Given the description of an element on the screen output the (x, y) to click on. 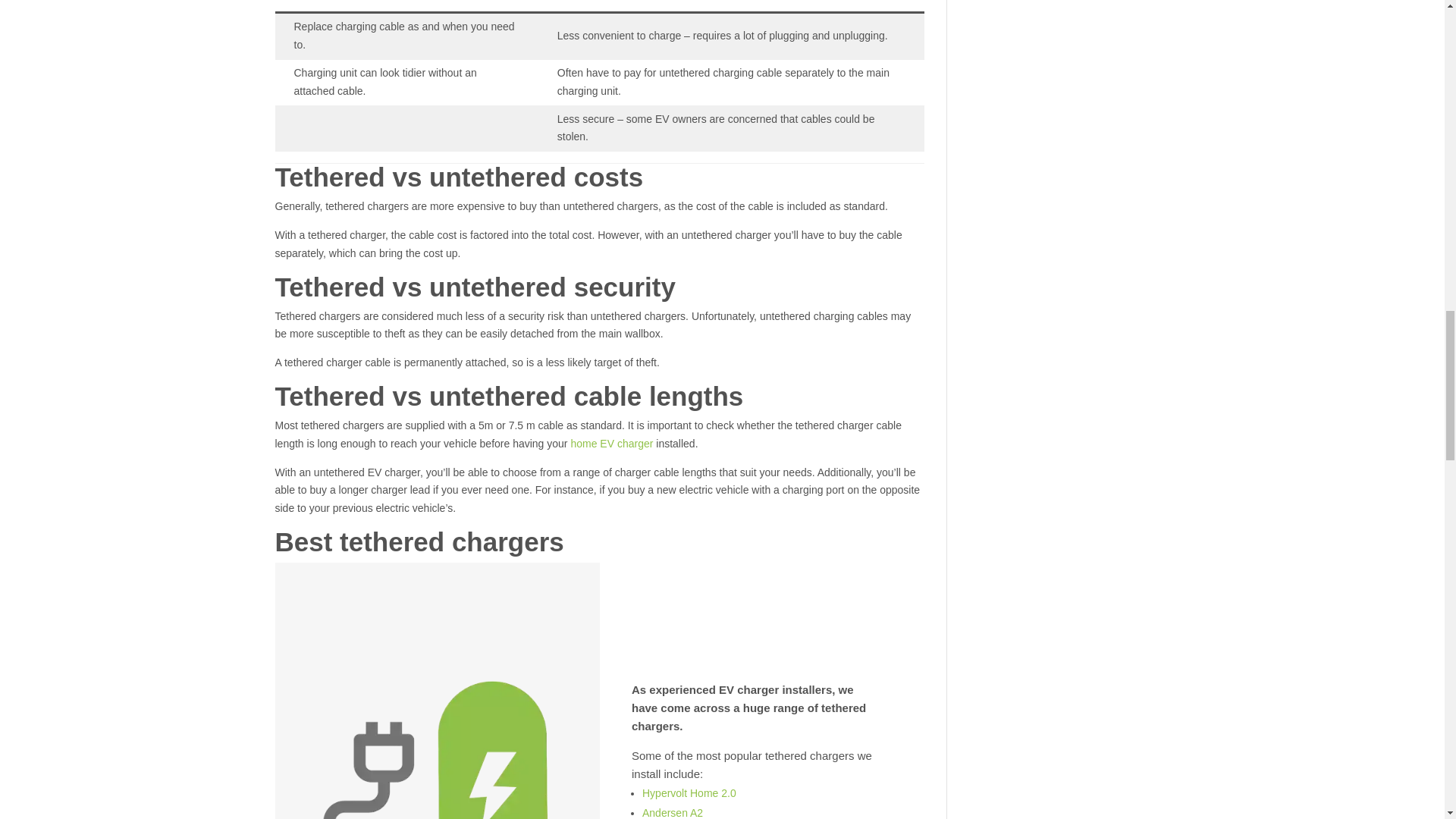
Hypervolt Home 2.0 (689, 793)
Andersen A2 (672, 812)
home EV charger (611, 443)
